Given the description of an element on the screen output the (x, y) to click on. 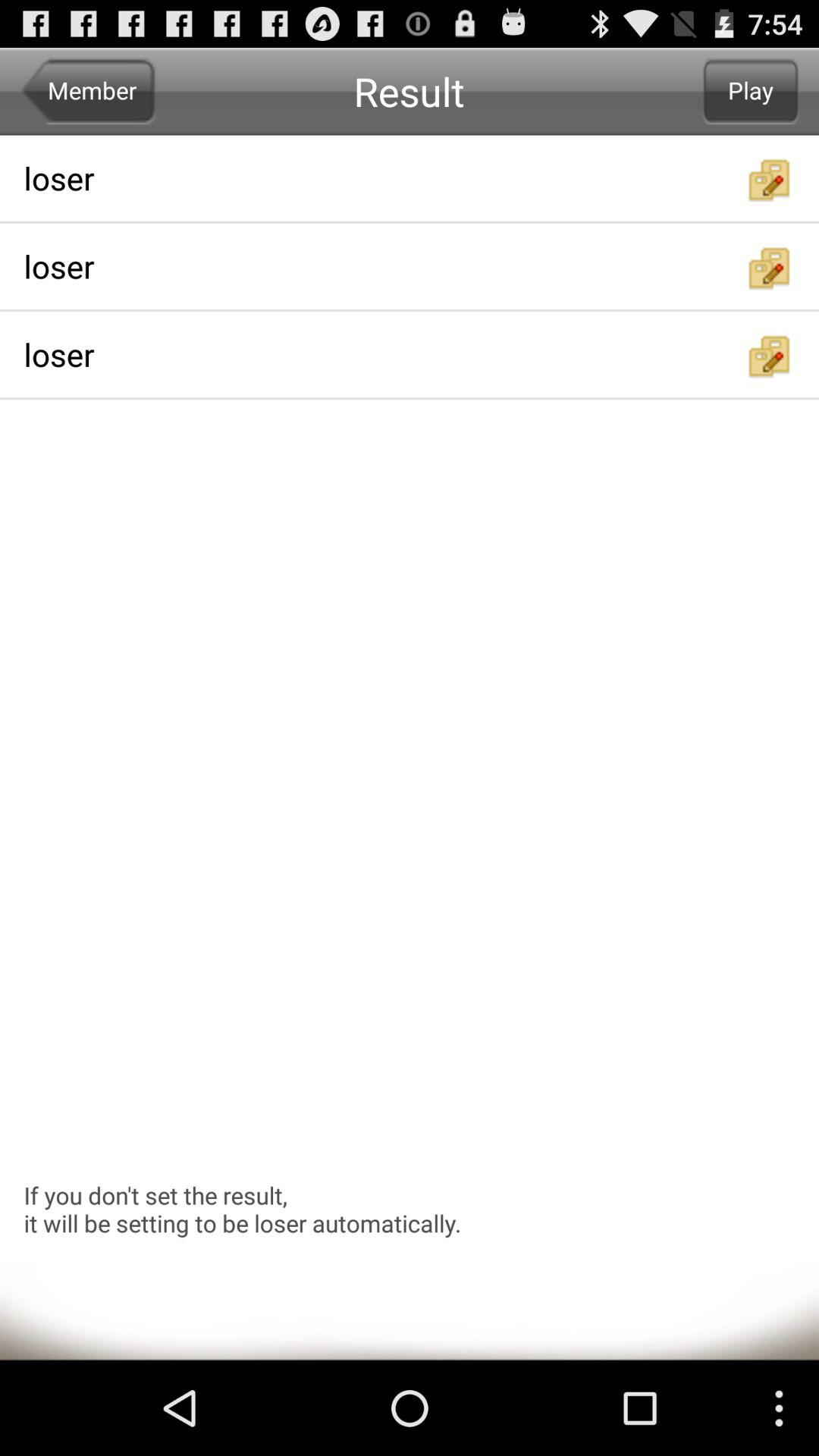
select to save to a file (770, 267)
